Given the description of an element on the screen output the (x, y) to click on. 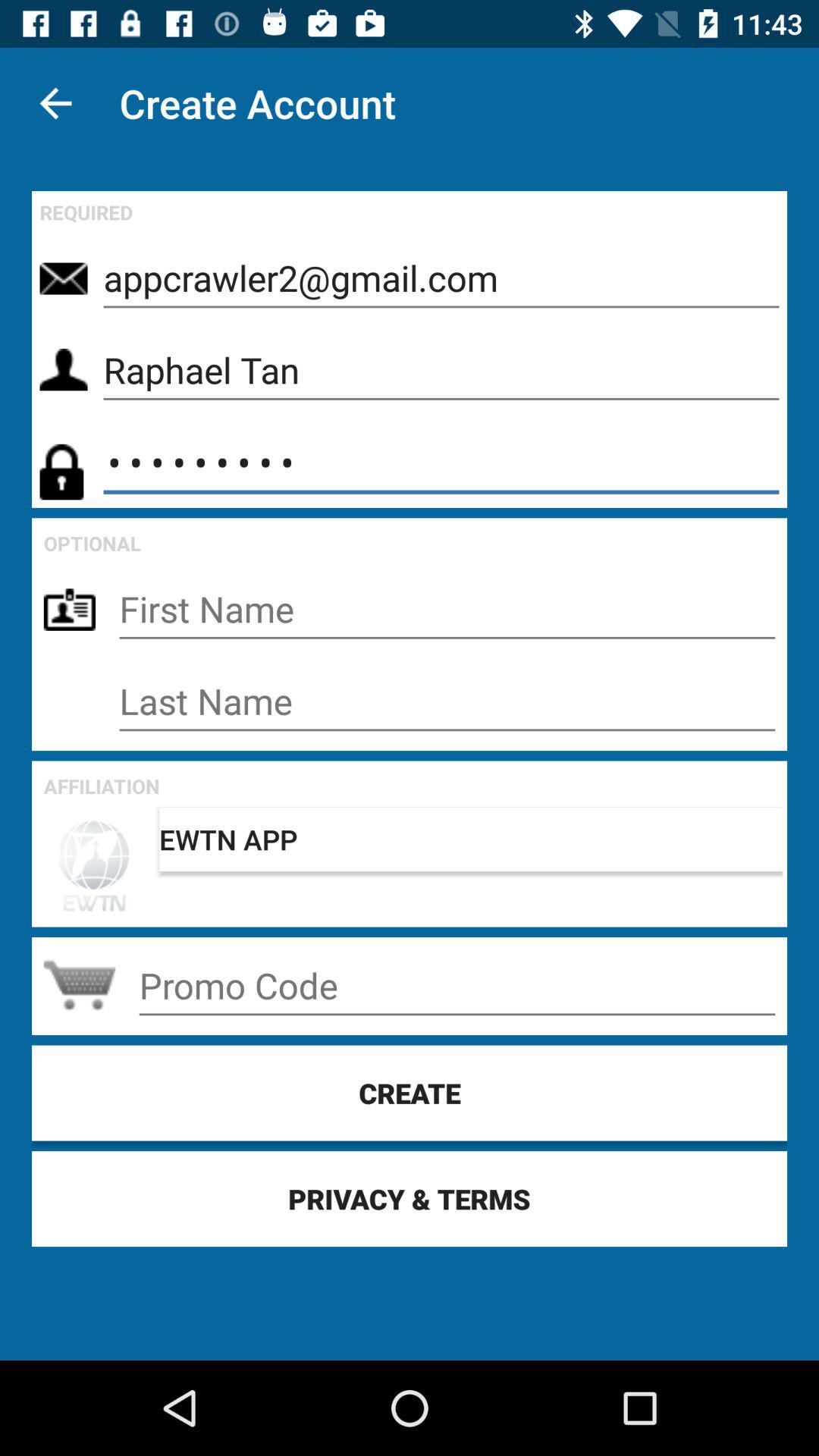
tap the item to the right of the affiliation item (471, 839)
